Given the description of an element on the screen output the (x, y) to click on. 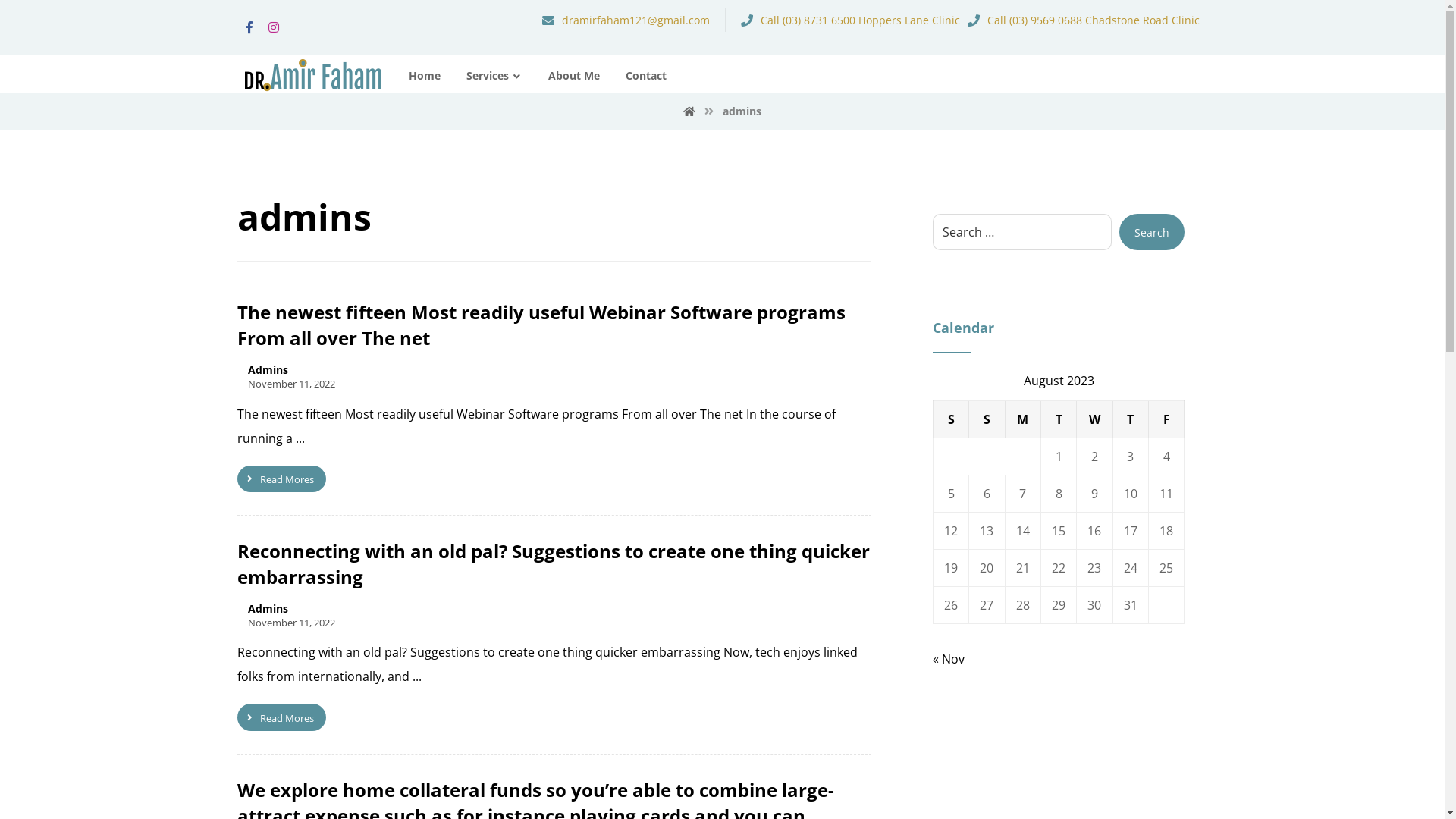
dramirfaham121@gmail.com Element type: text (625, 18)
Home Element type: text (423, 75)
admins Element type: text (741, 110)
Read Mores Element type: text (280, 478)
Admins Element type: text (267, 608)
Home page Element type: hover (689, 110)
Admins Element type: text (267, 369)
Contact Element type: text (644, 75)
Services Element type: text (493, 75)
Call (03) 8731 6500 Hoppers Lane Clinic Element type: text (850, 18)
Search Element type: text (1151, 231)
Read Mores Element type: text (280, 717)
Call (03) 9569 0688 Chadstone Road Clinic Element type: text (1083, 18)
About Me Element type: text (573, 75)
